Given the description of an element on the screen output the (x, y) to click on. 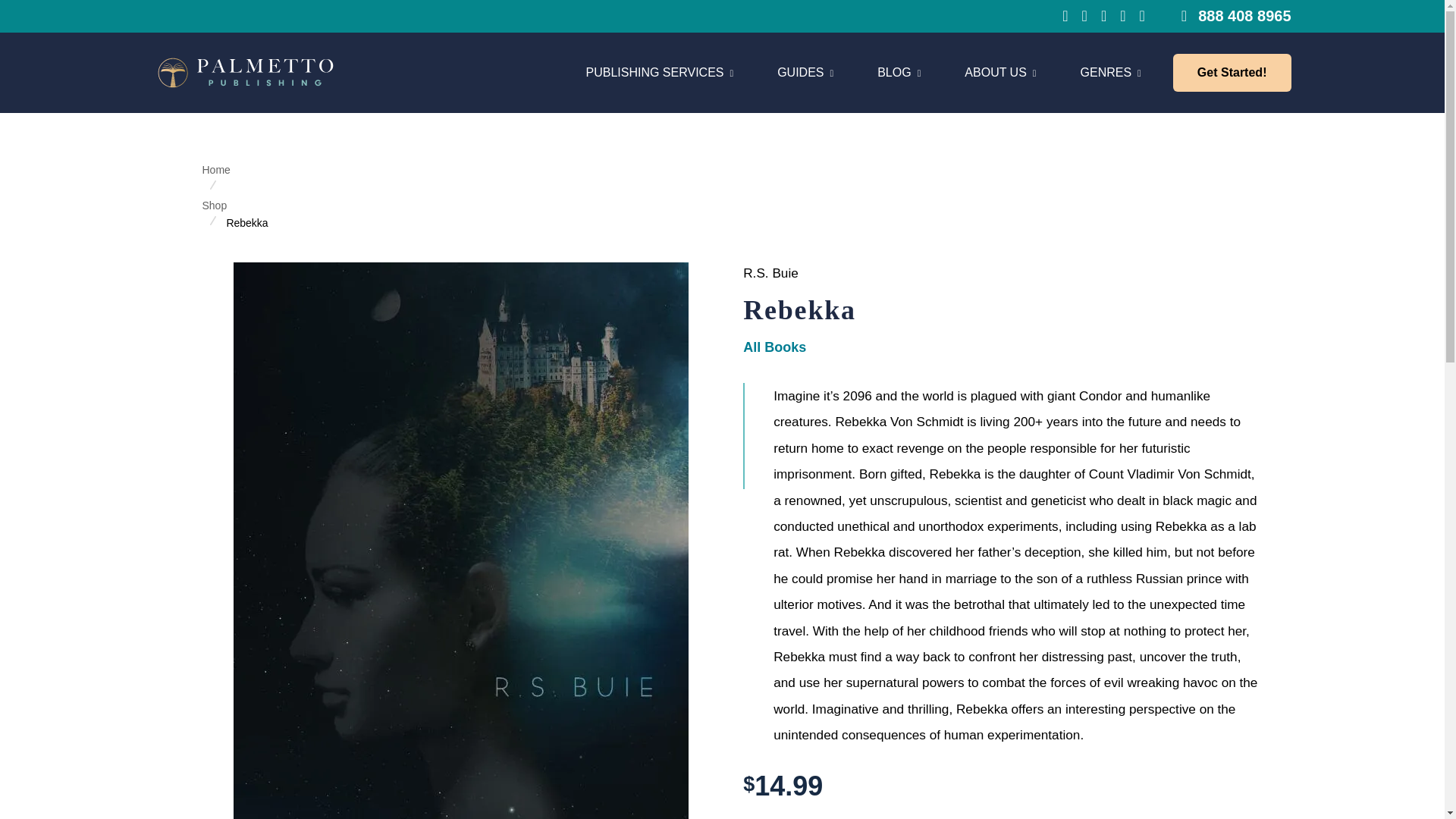
888 408 8965 (866, 72)
PUBLISHING SERVICES (1235, 15)
BLOG (659, 72)
GUIDES (899, 72)
ABOUT US (804, 72)
Skip Navigation (1000, 72)
